Given the description of an element on the screen output the (x, y) to click on. 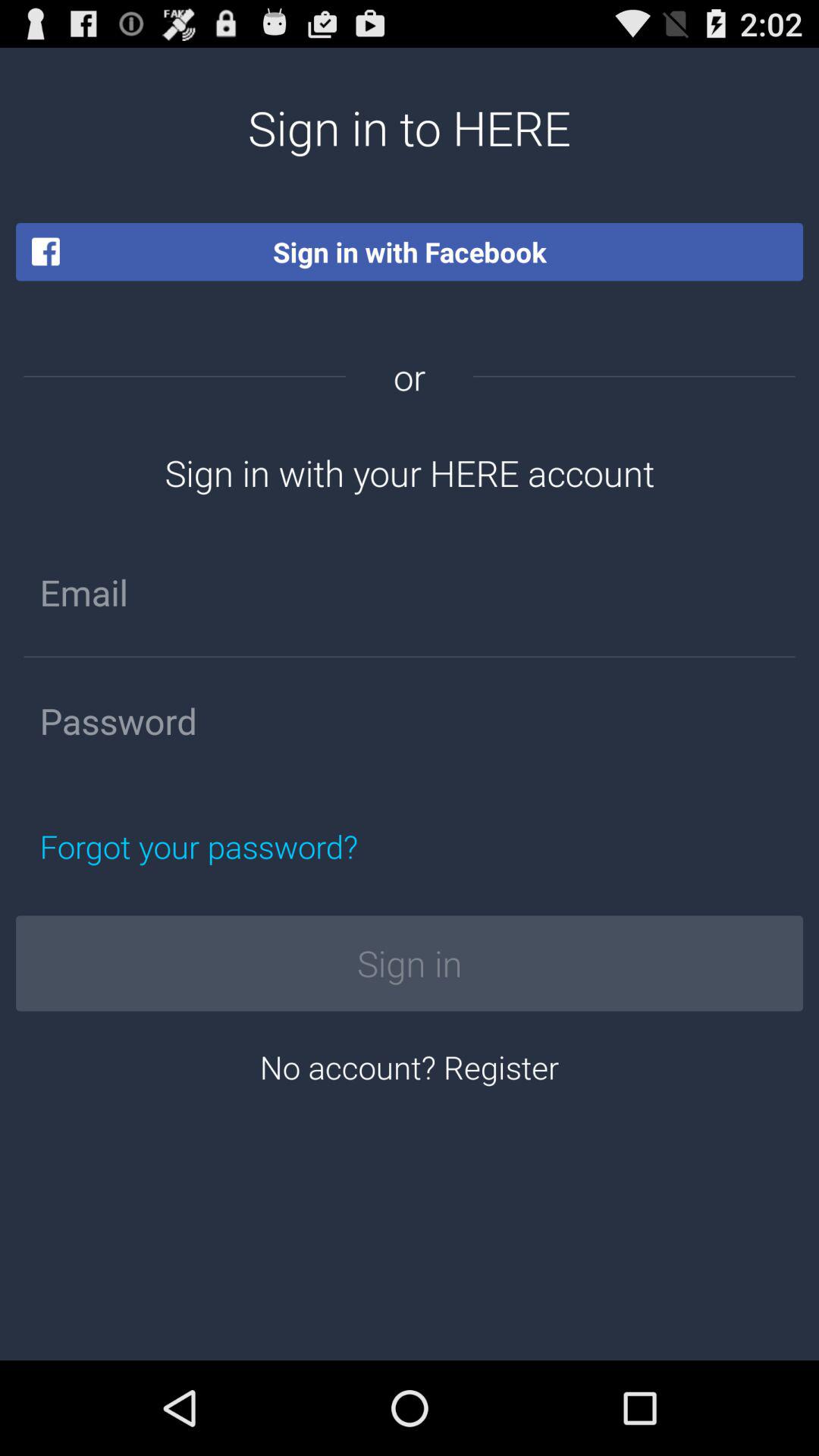
turn on item at the bottom (409, 1066)
